Given the description of an element on the screen output the (x, y) to click on. 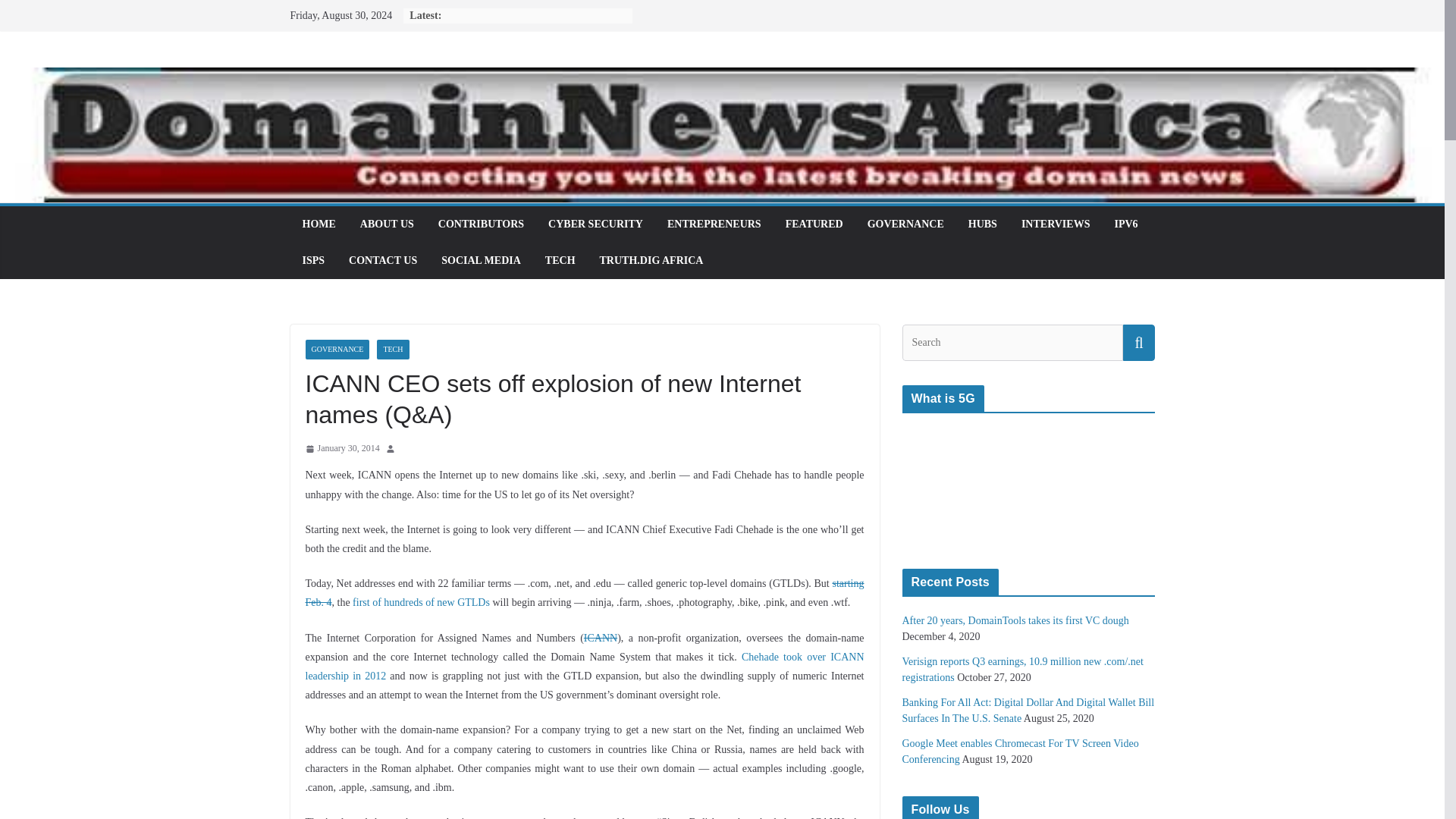
CONTRIBUTORS (481, 224)
TECH (393, 349)
FEATURED (814, 224)
5:28 pm (341, 448)
starting Feb. 4 (583, 593)
Chehade took over ICANN leadership in 2012 (583, 666)
TRUTH.DIG AFRICA (651, 260)
CONTACT US (382, 260)
HUBS (982, 224)
ISPS (312, 260)
